Given the description of an element on the screen output the (x, y) to click on. 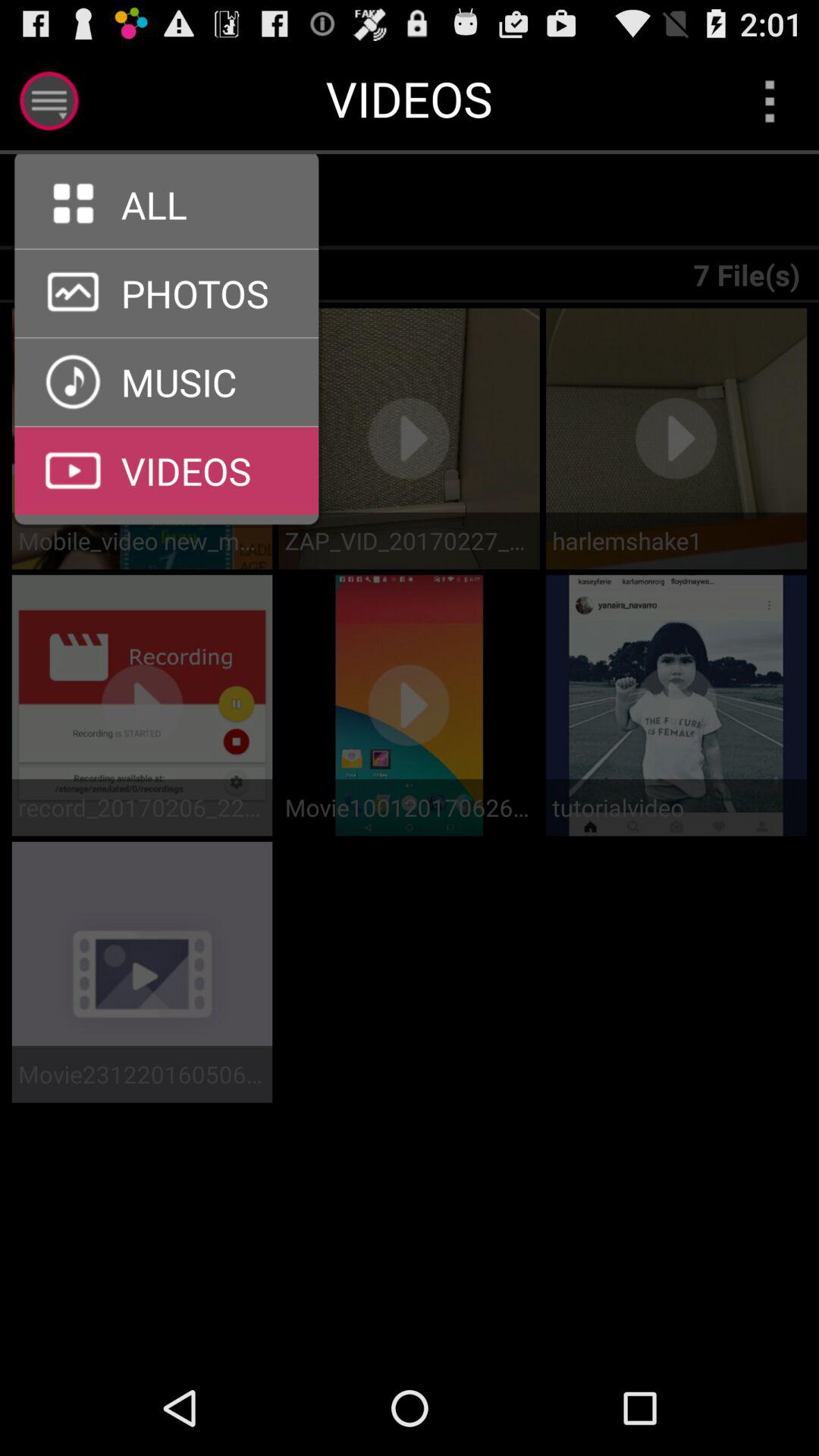
select all option (65, 201)
